Given the description of an element on the screen output the (x, y) to click on. 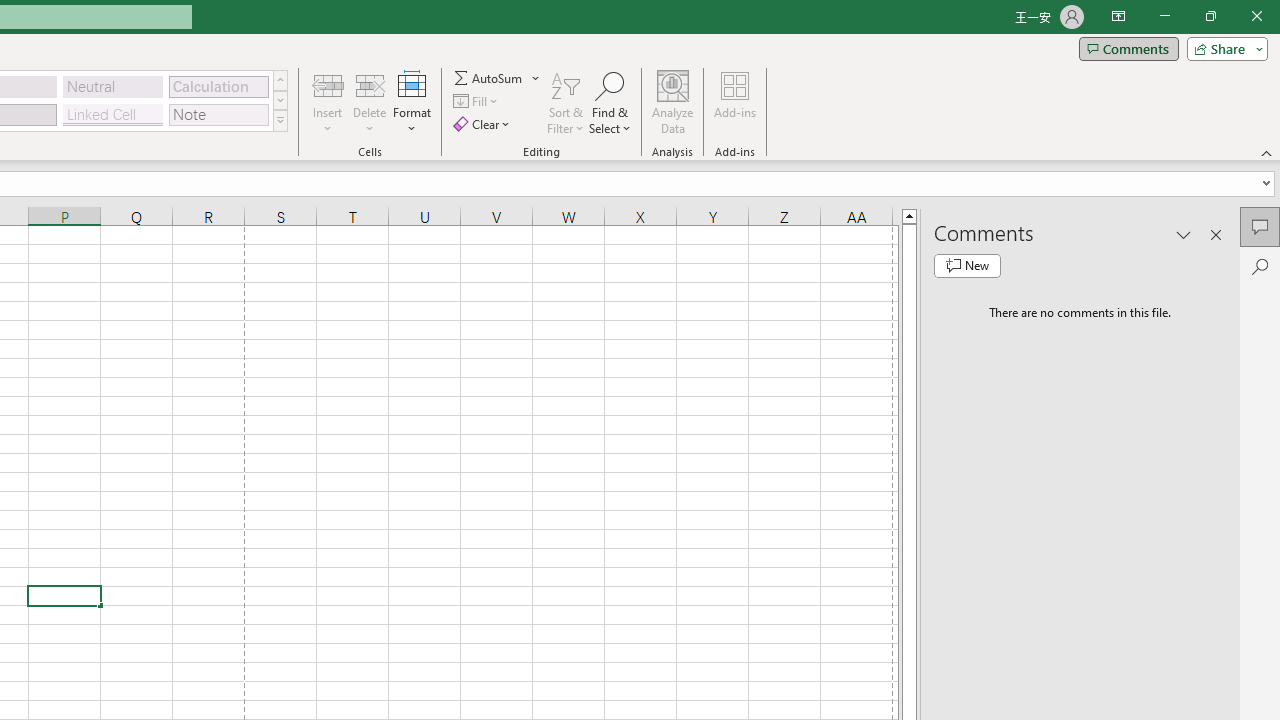
Delete (369, 102)
AutoSum (497, 78)
Neutral (113, 86)
Cell Styles (280, 120)
Sort & Filter (566, 102)
Calculation (218, 86)
Linked Cell (113, 114)
Format (411, 102)
Delete Cells... (369, 84)
New comment (967, 265)
Insert Cells (328, 84)
